Given the description of an element on the screen output the (x, y) to click on. 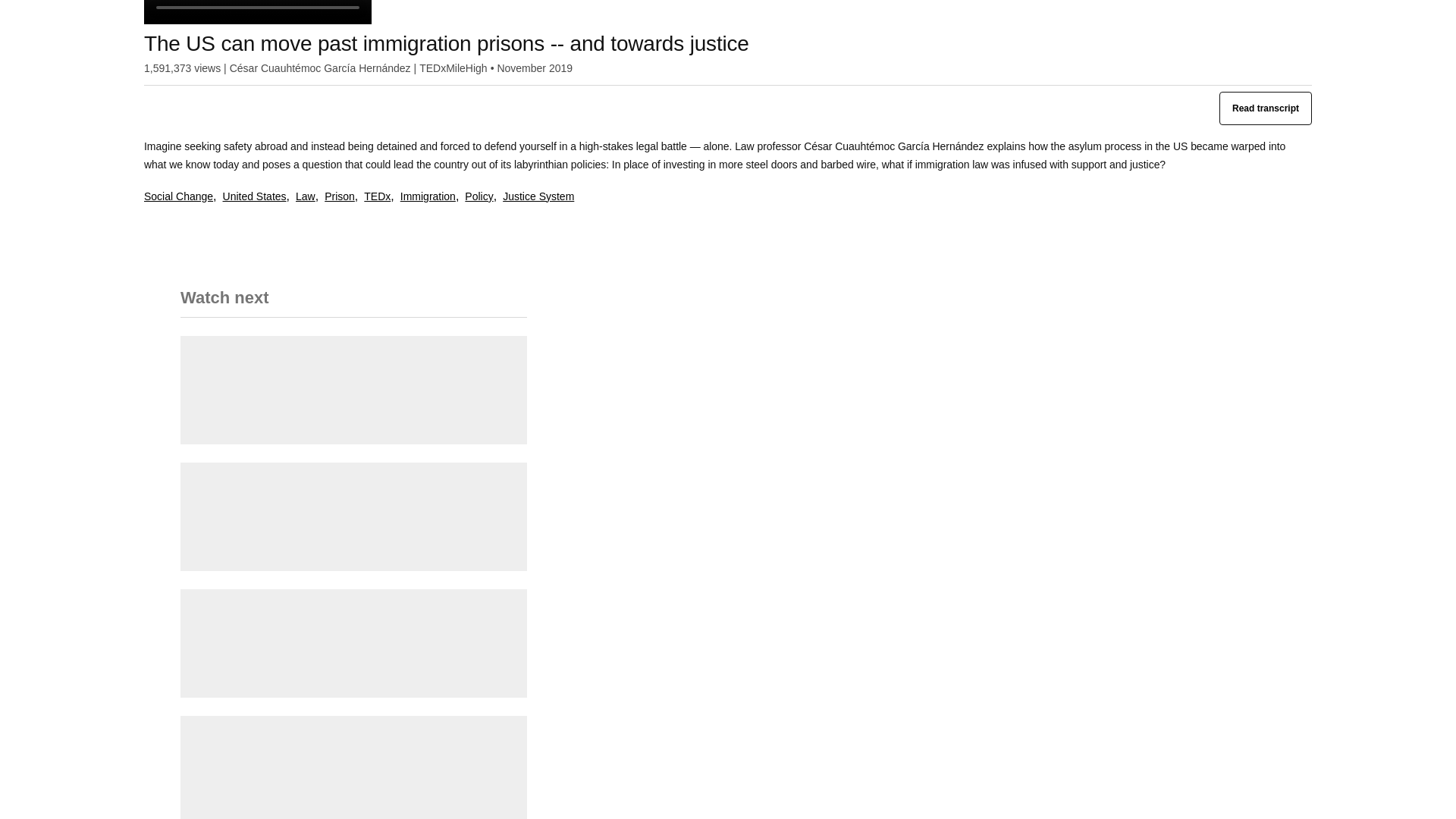
Law (305, 196)
Social Change (178, 196)
Watch next (224, 302)
United States (254, 196)
TEDx (377, 196)
Justice System (537, 196)
Prison (339, 196)
Read transcript (1265, 108)
Immigration (427, 196)
Policy (478, 196)
Watch next (353, 308)
